Given the description of an element on the screen output the (x, y) to click on. 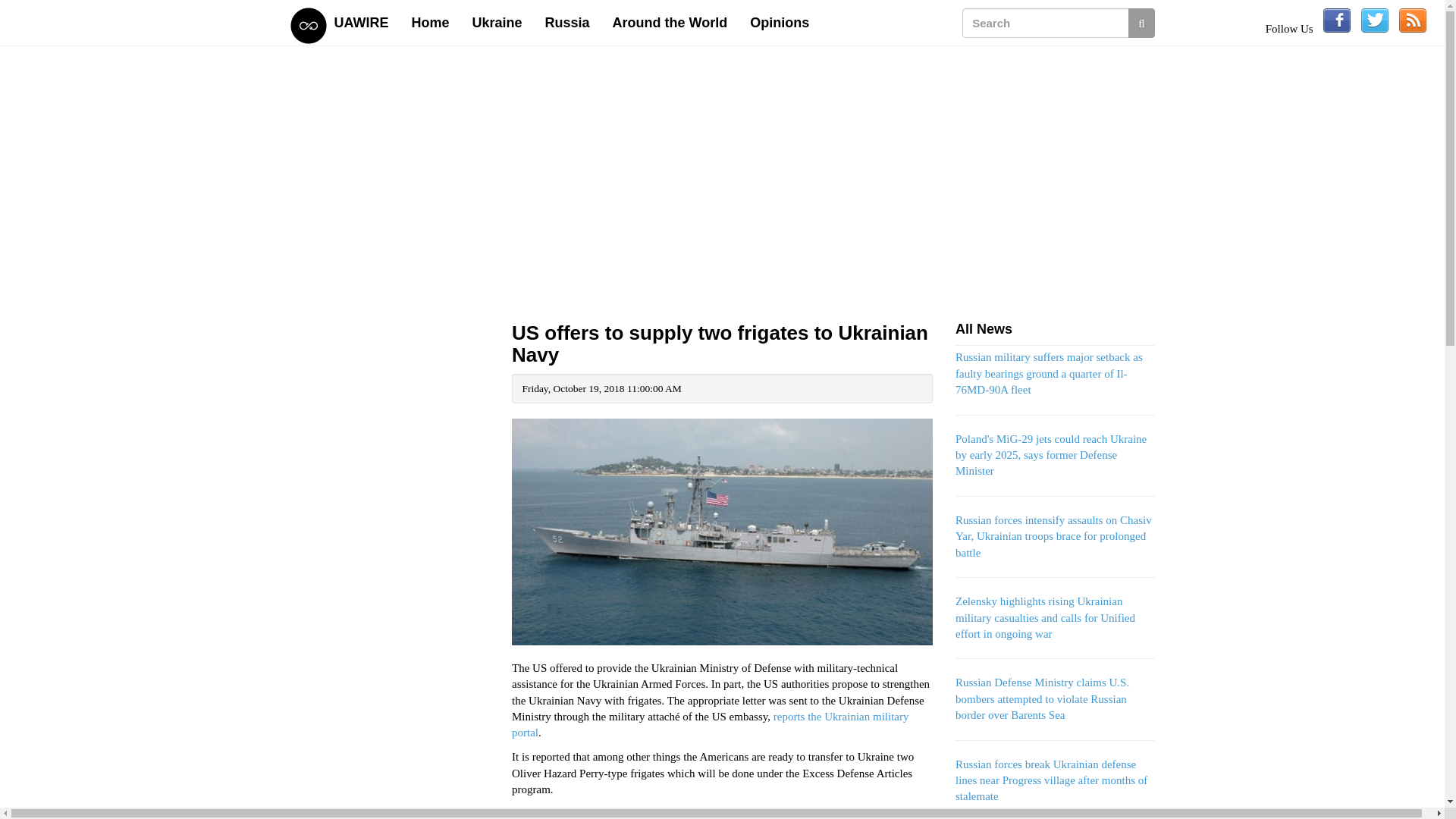
Advertisement (389, 790)
Subscribe to our rss feed (1412, 20)
Opinions (779, 22)
Ukraine (497, 22)
Around the World (670, 22)
Follow us on Twitter (1375, 20)
Russia (567, 22)
Follow us on Facebook (1337, 20)
reports the Ukrainian military portal (710, 724)
